Given the description of an element on the screen output the (x, y) to click on. 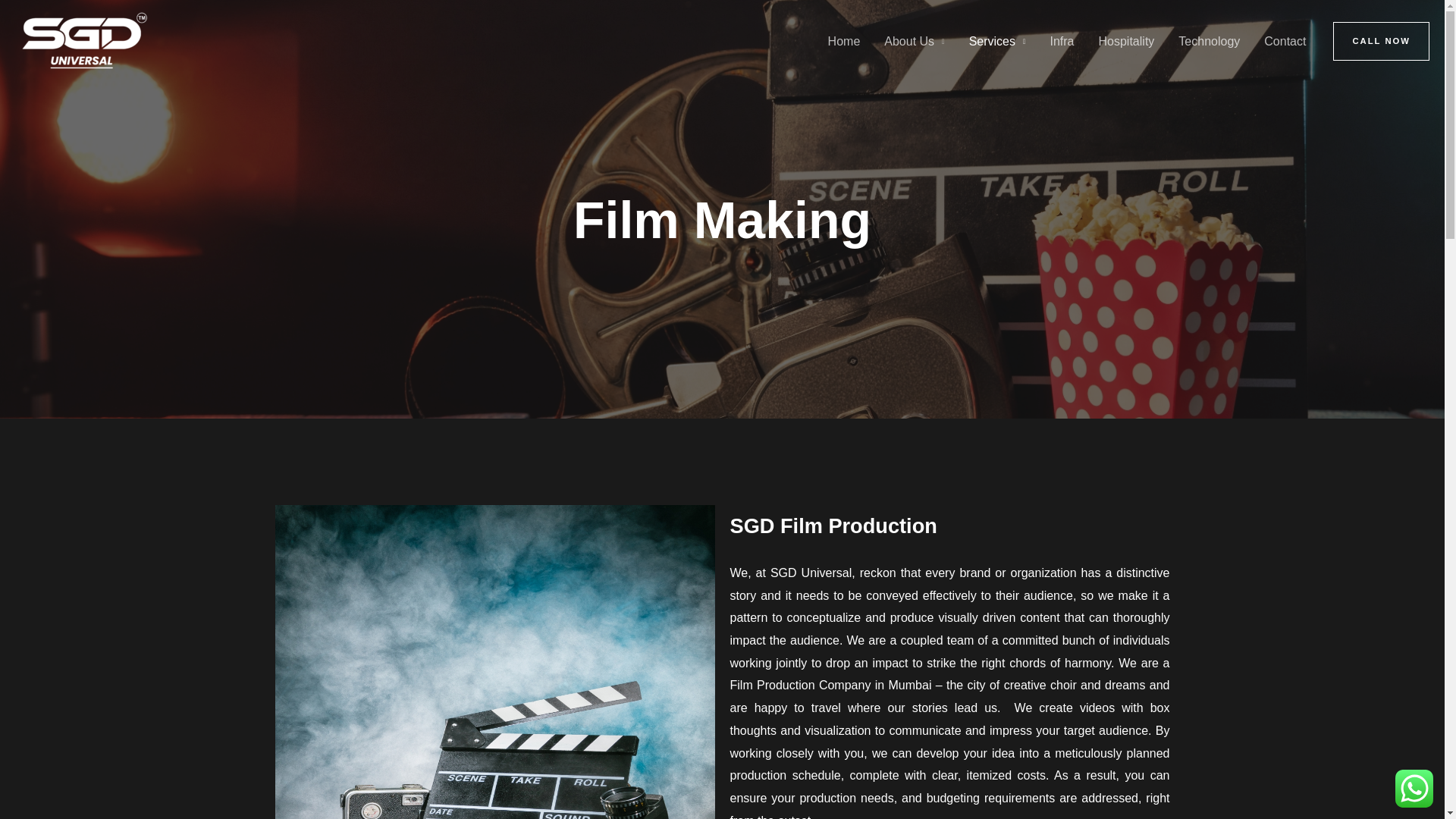
About Us (914, 41)
Infra (1061, 41)
Contact (1284, 41)
Hospitality (1126, 41)
CALL NOW (1381, 41)
Services (997, 41)
Technology (1209, 41)
Home (843, 41)
